Given the description of an element on the screen output the (x, y) to click on. 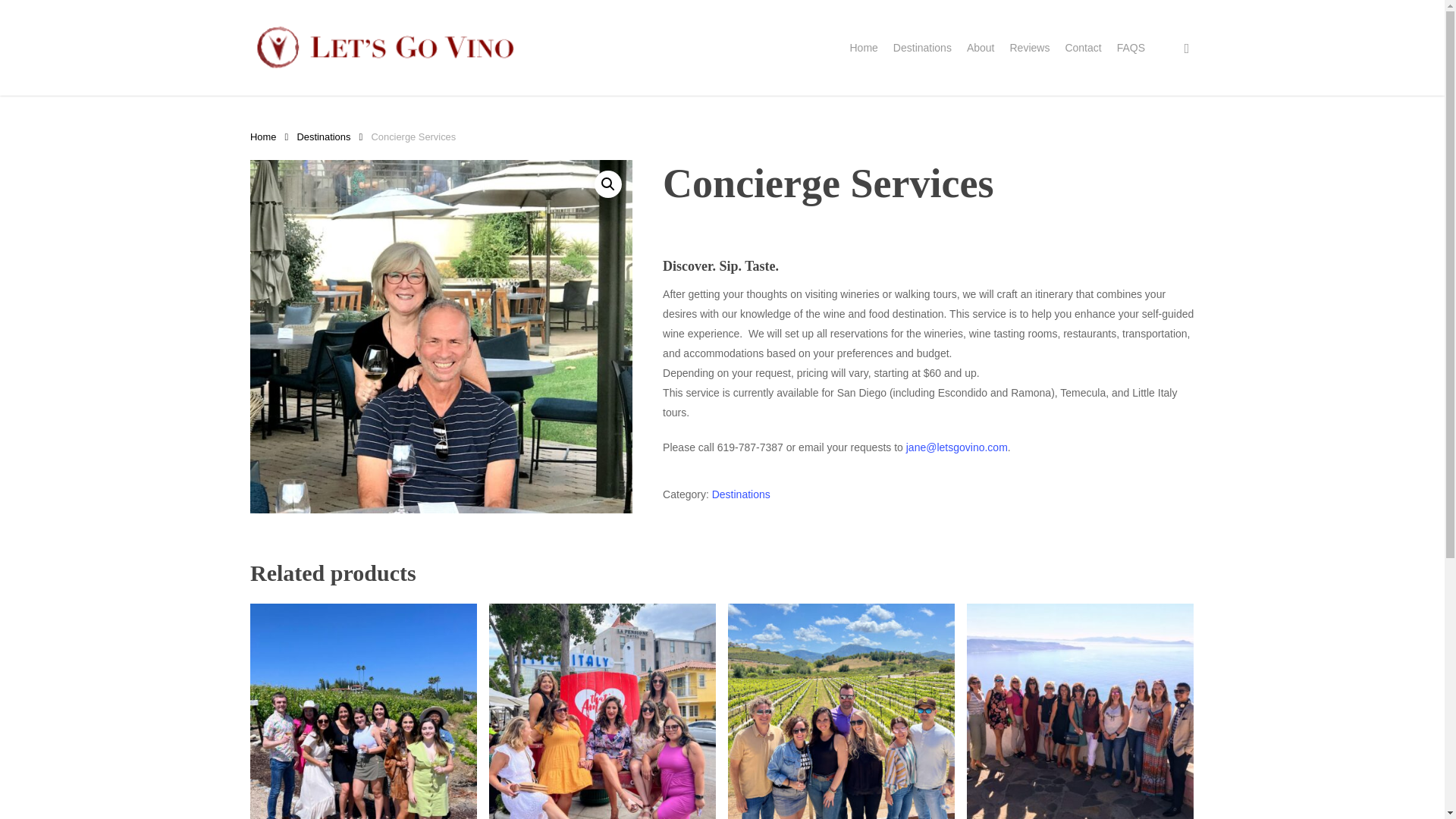
FAQS (1130, 47)
Reviews (1029, 47)
Destinations (323, 136)
Home (862, 47)
Destinations (922, 47)
Destinations (740, 494)
Home (263, 136)
Contact (1082, 47)
About (980, 47)
